Given the description of an element on the screen output the (x, y) to click on. 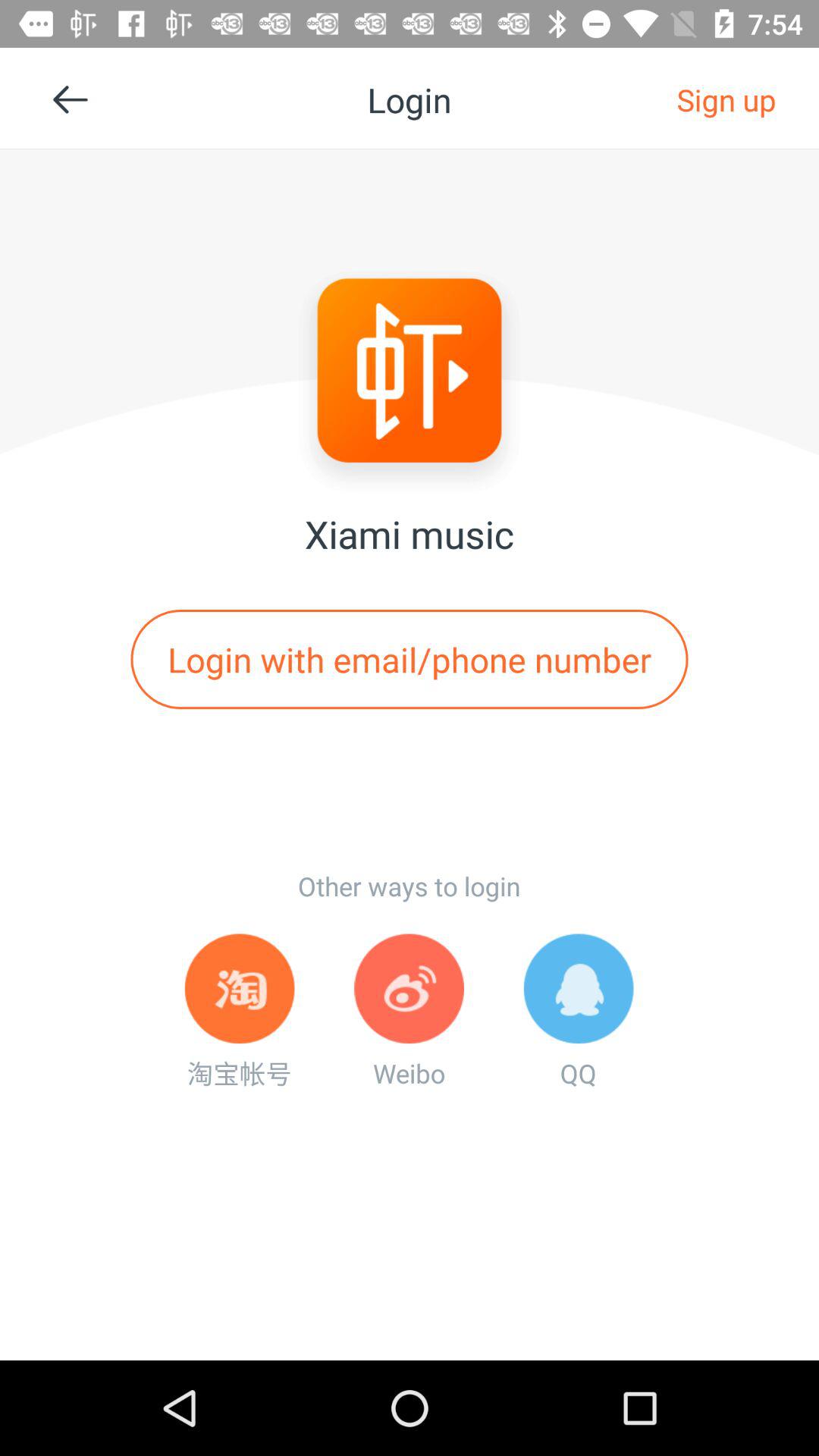
select icon to the left of qq app (409, 1011)
